Given the description of an element on the screen output the (x, y) to click on. 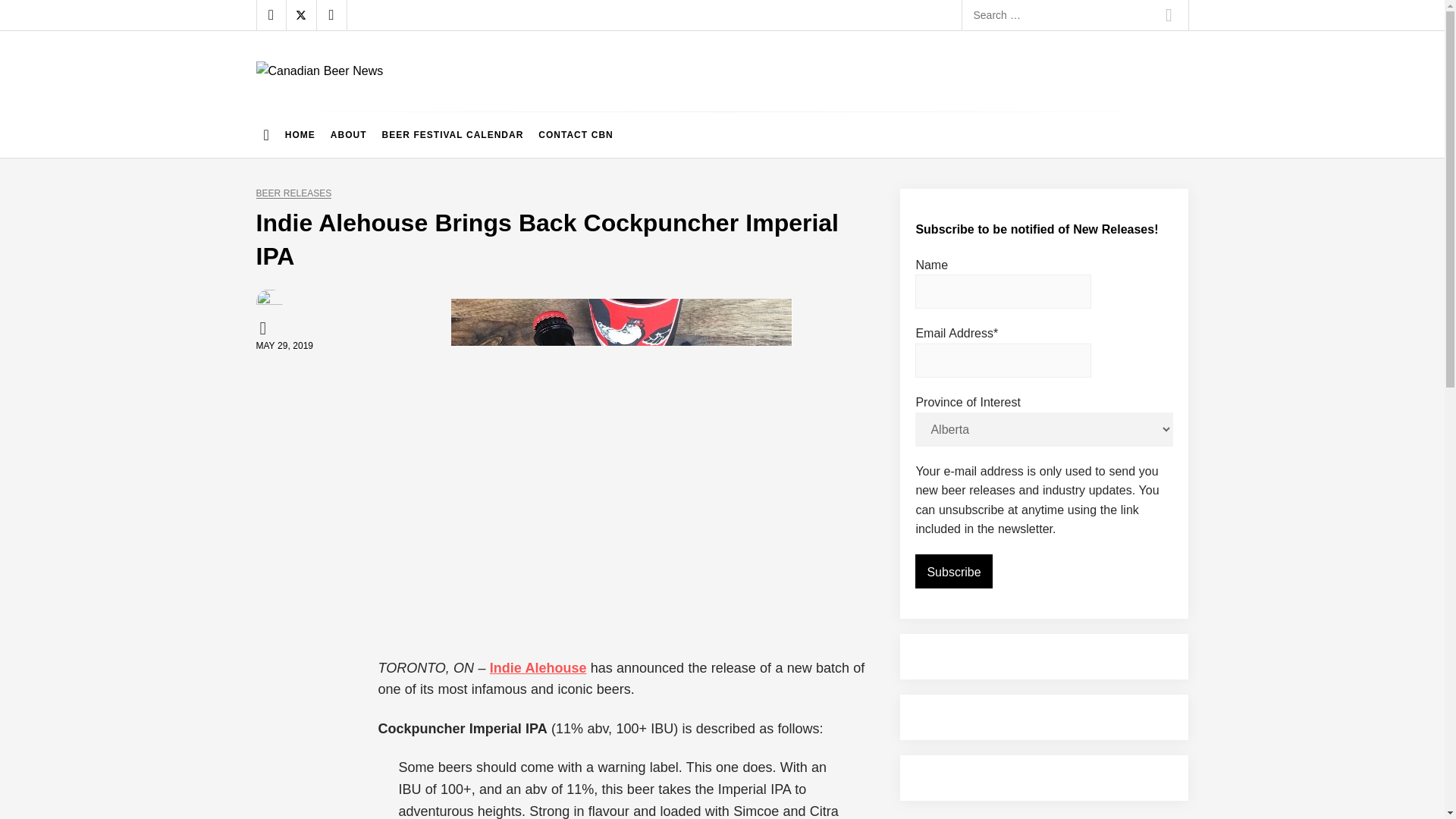
BEER RELEASES (293, 194)
HOME (300, 135)
ABOUT (348, 135)
CBN (265, 327)
Subscribe (953, 571)
Subscribe (953, 571)
CONTACT CBN (575, 135)
BEER FESTIVAL CALENDAR (452, 135)
Indie Alehouse (537, 667)
Canadian Beer News (384, 95)
